Given the description of an element on the screen output the (x, y) to click on. 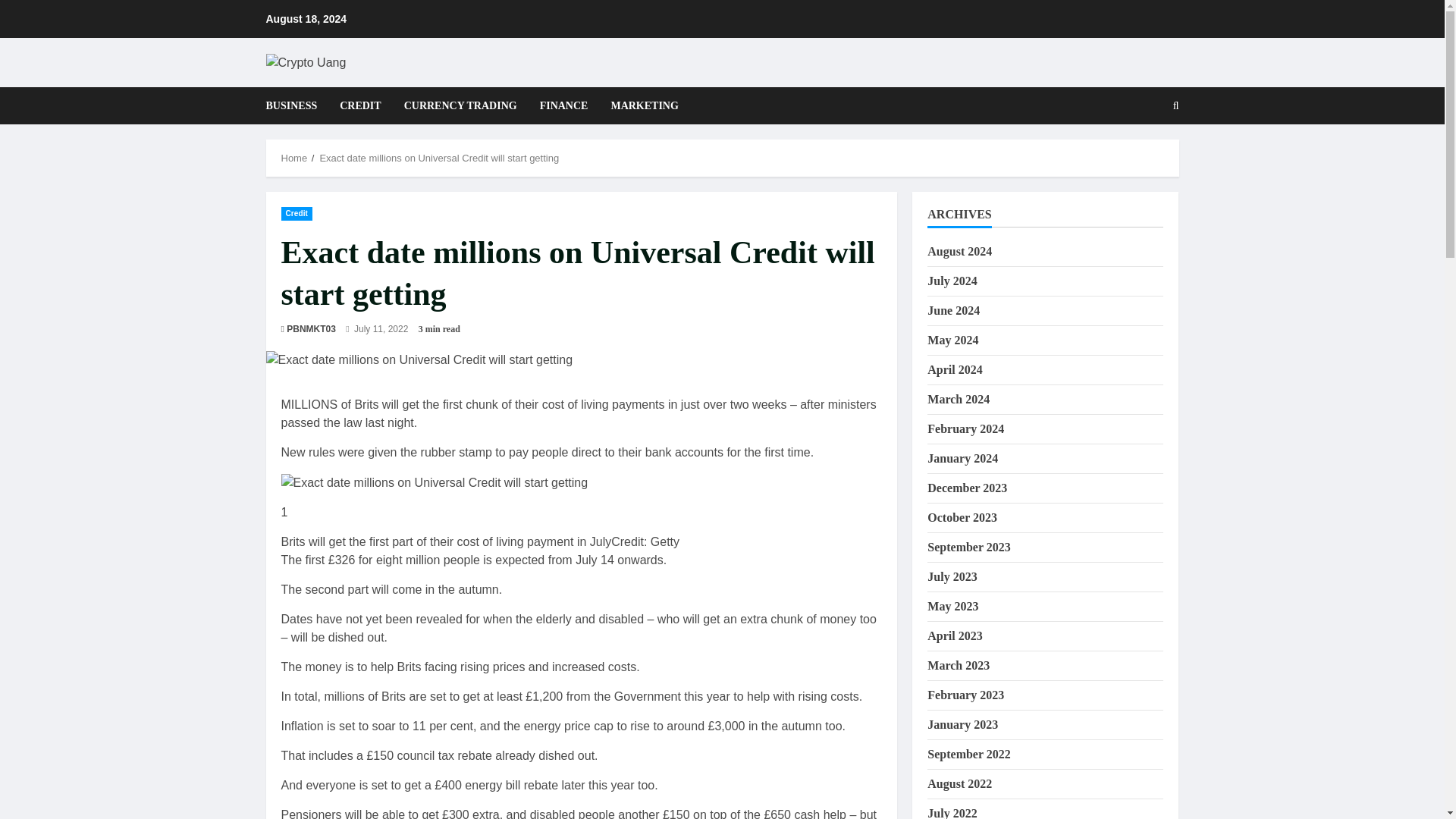
BUSINESS (296, 105)
Exact date millions on Universal Credit will start getting (434, 483)
CREDIT (360, 105)
January 2024 (962, 458)
FINANCE (563, 105)
Exact date millions on Universal Credit will start getting (580, 360)
MARKETING (638, 105)
June 2024 (953, 309)
CURRENCY TRADING (460, 105)
August 2024 (959, 250)
